Given the description of an element on the screen output the (x, y) to click on. 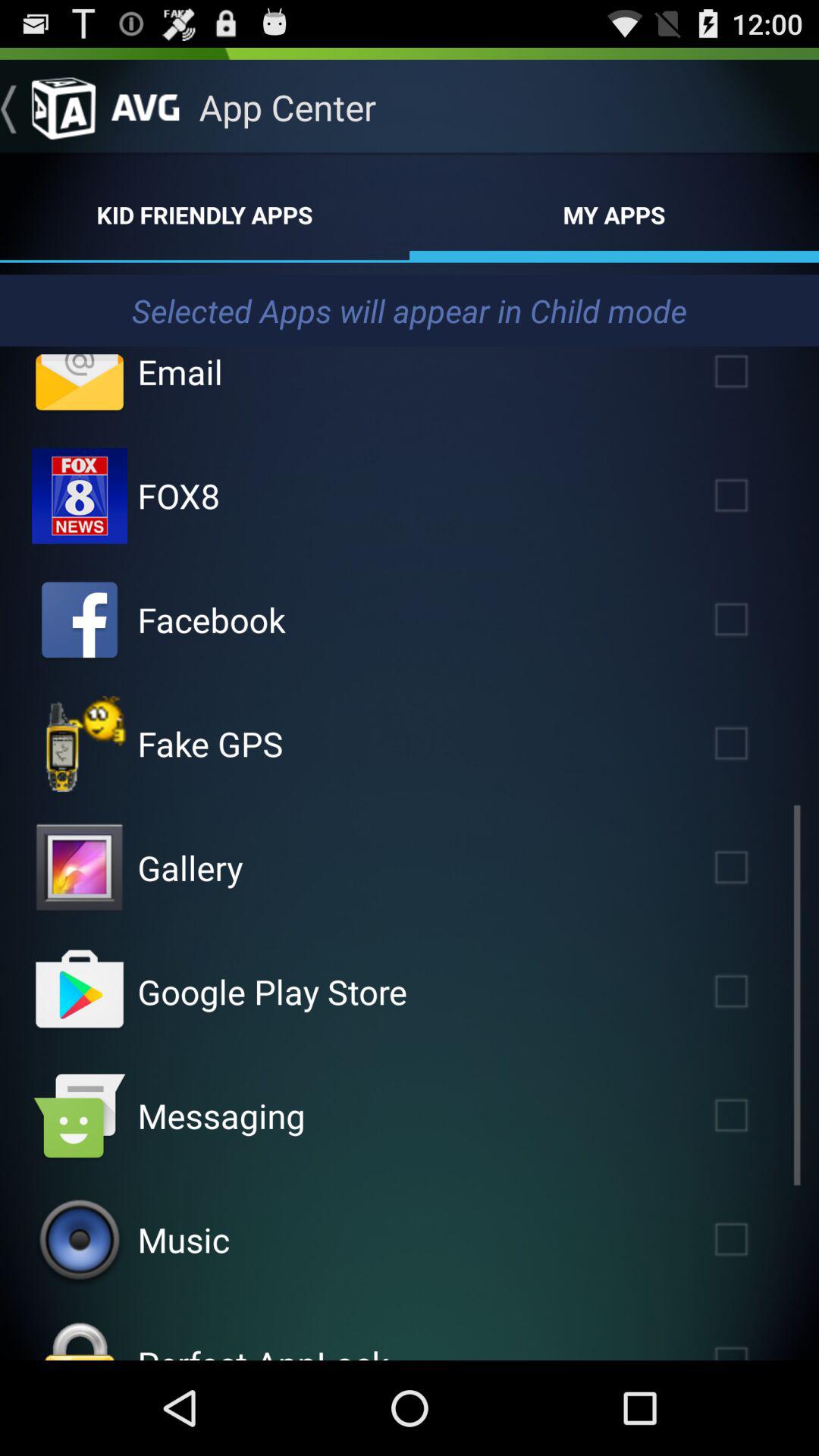
my music (79, 1239)
